Given the description of an element on the screen output the (x, y) to click on. 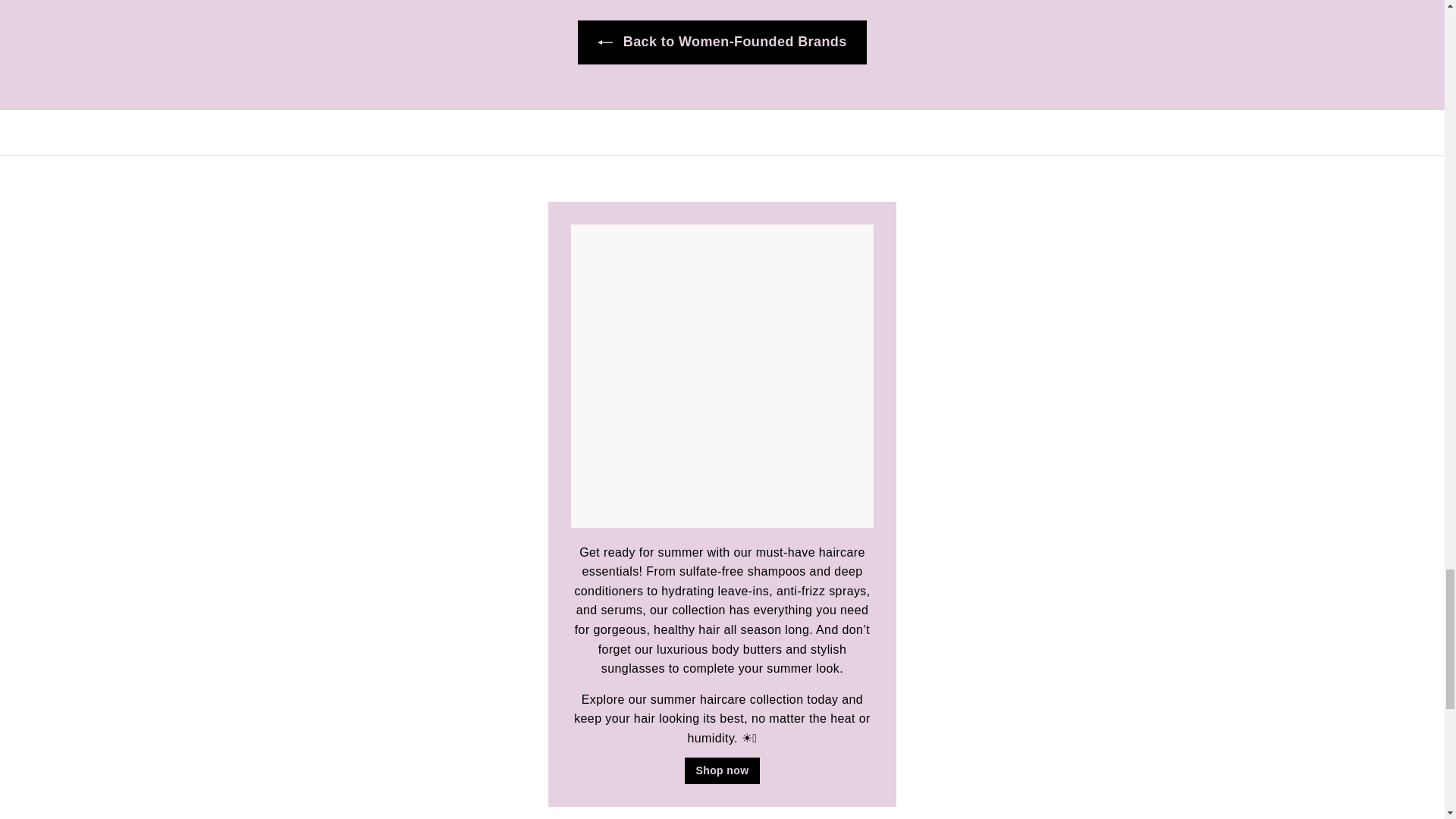
icon-left-arrow (604, 42)
